Given the description of an element on the screen output the (x, y) to click on. 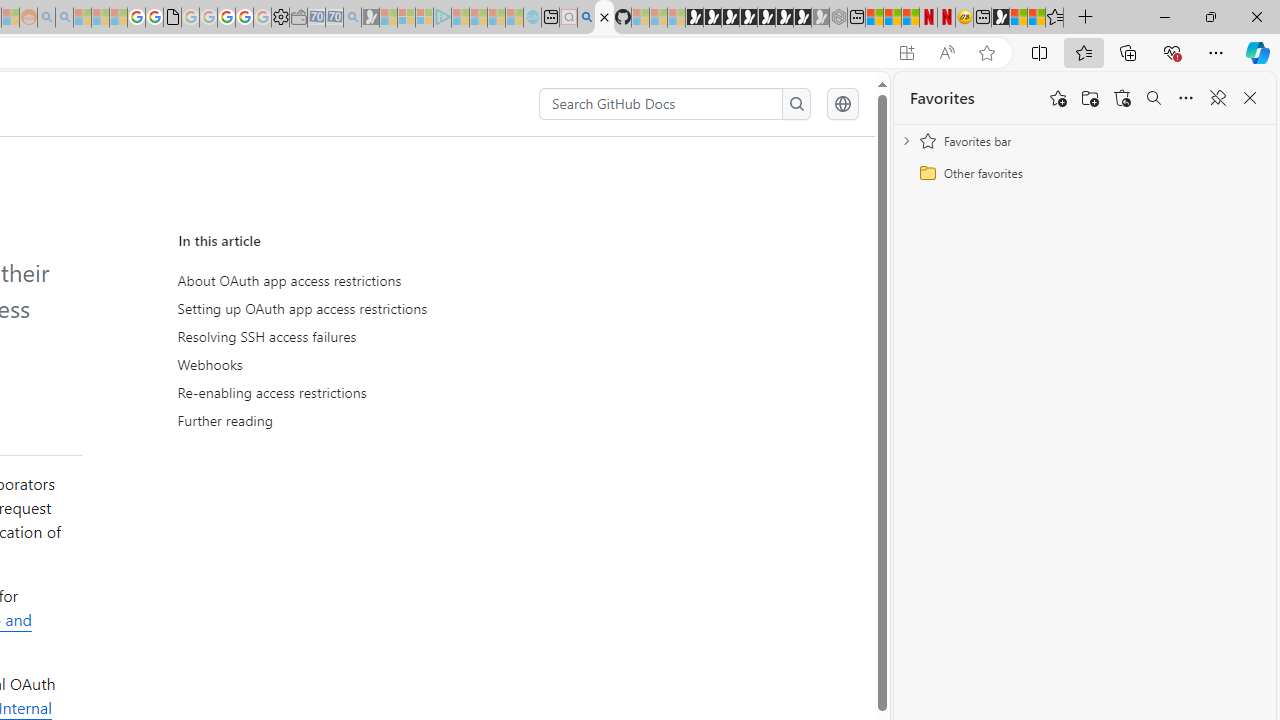
Webhooks (362, 364)
About OAuth app access restrictions (365, 281)
